Given the description of an element on the screen output the (x, y) to click on. 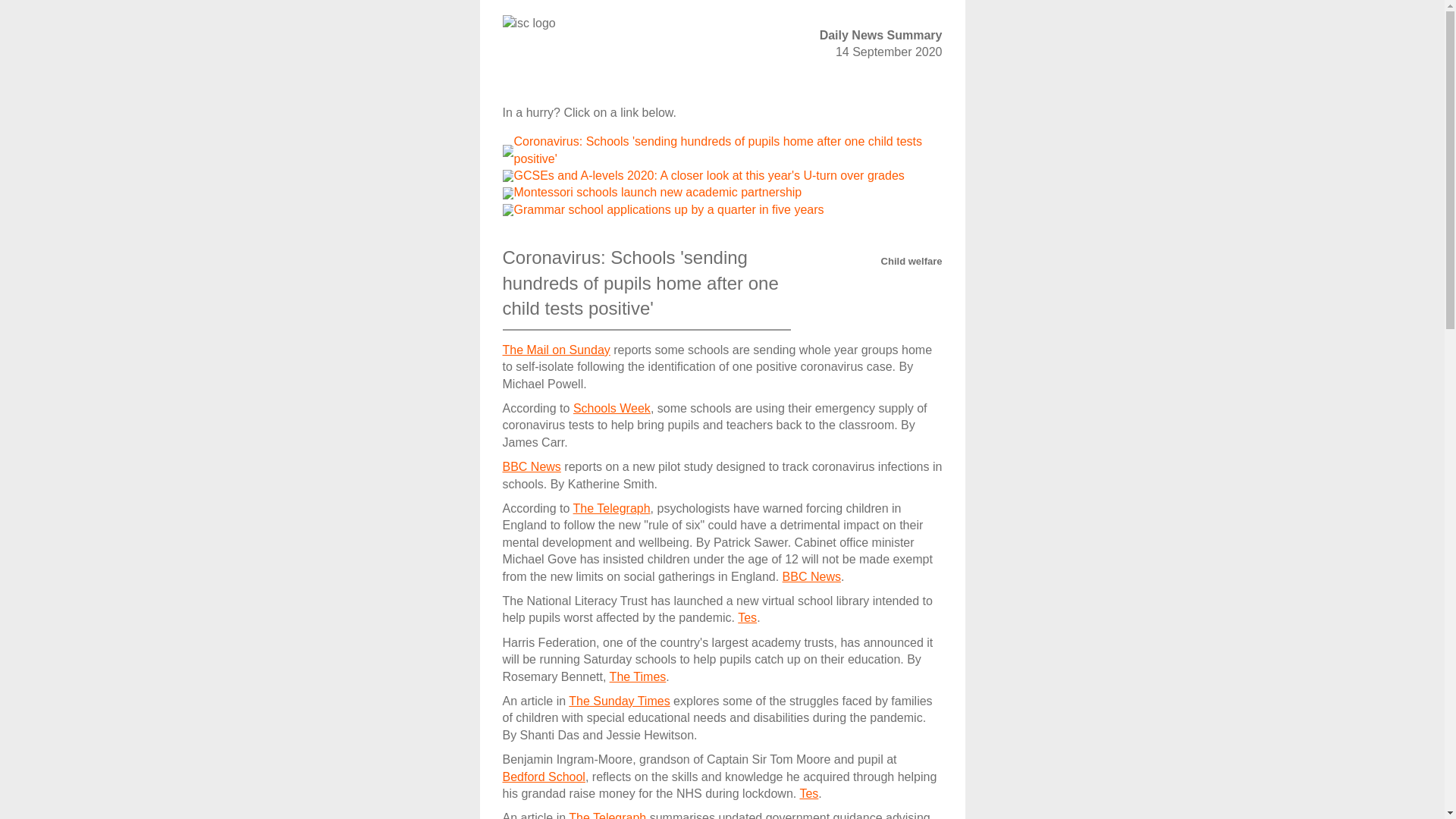
BBC News (531, 466)
The Times (638, 676)
Bedford School (543, 776)
Tes (808, 793)
Grammar school applications up by a quarter in five years (668, 209)
Tes (747, 617)
The Sunday Times (619, 700)
Schools Week (611, 408)
Montessori schools launch new academic partnership (657, 192)
